Given the description of an element on the screen output the (x, y) to click on. 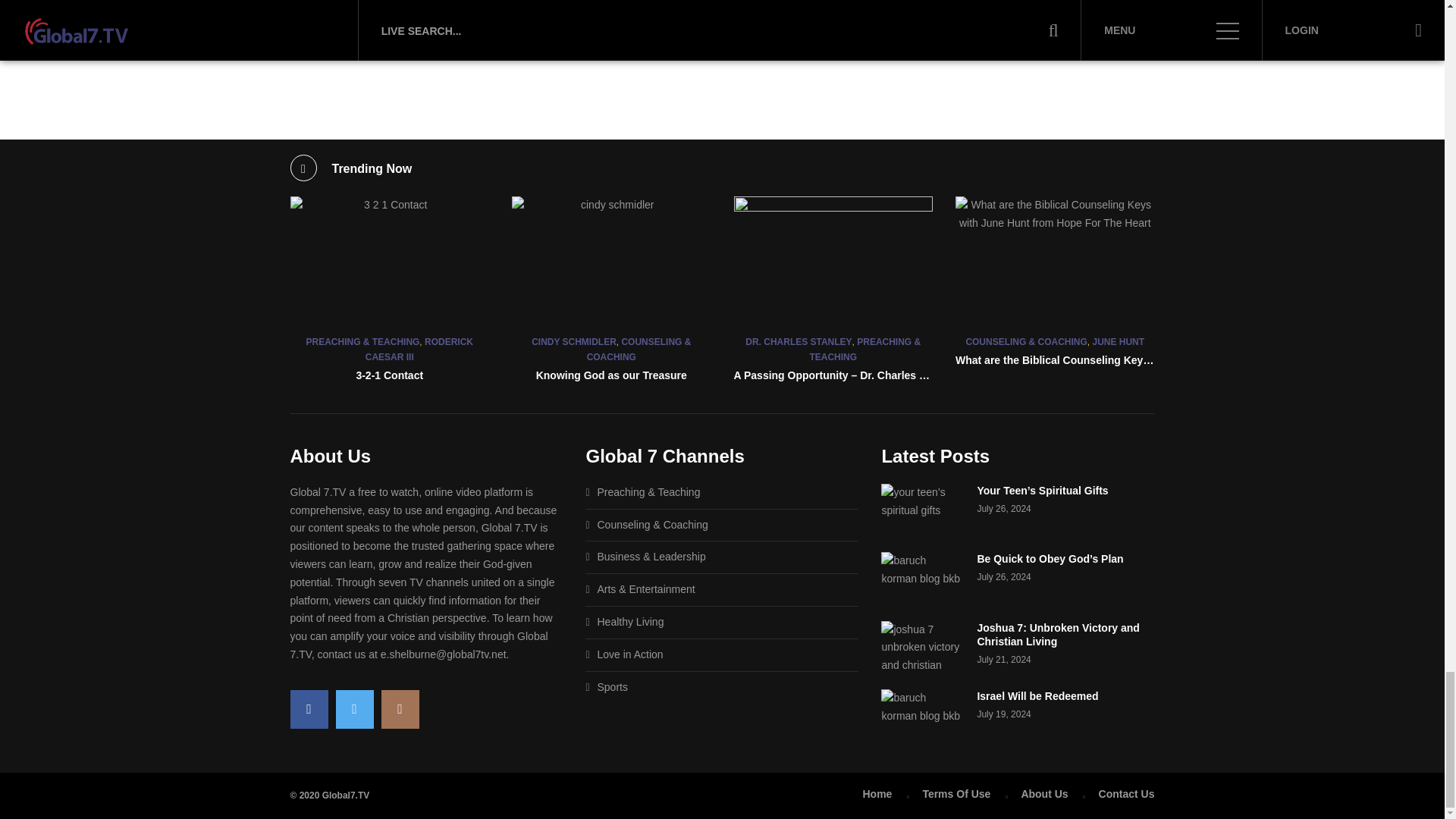
3-2-1 Contact (389, 260)
3-2-1 Contact (389, 375)
Cindy Schmidler (611, 260)
